Given the description of an element on the screen output the (x, y) to click on. 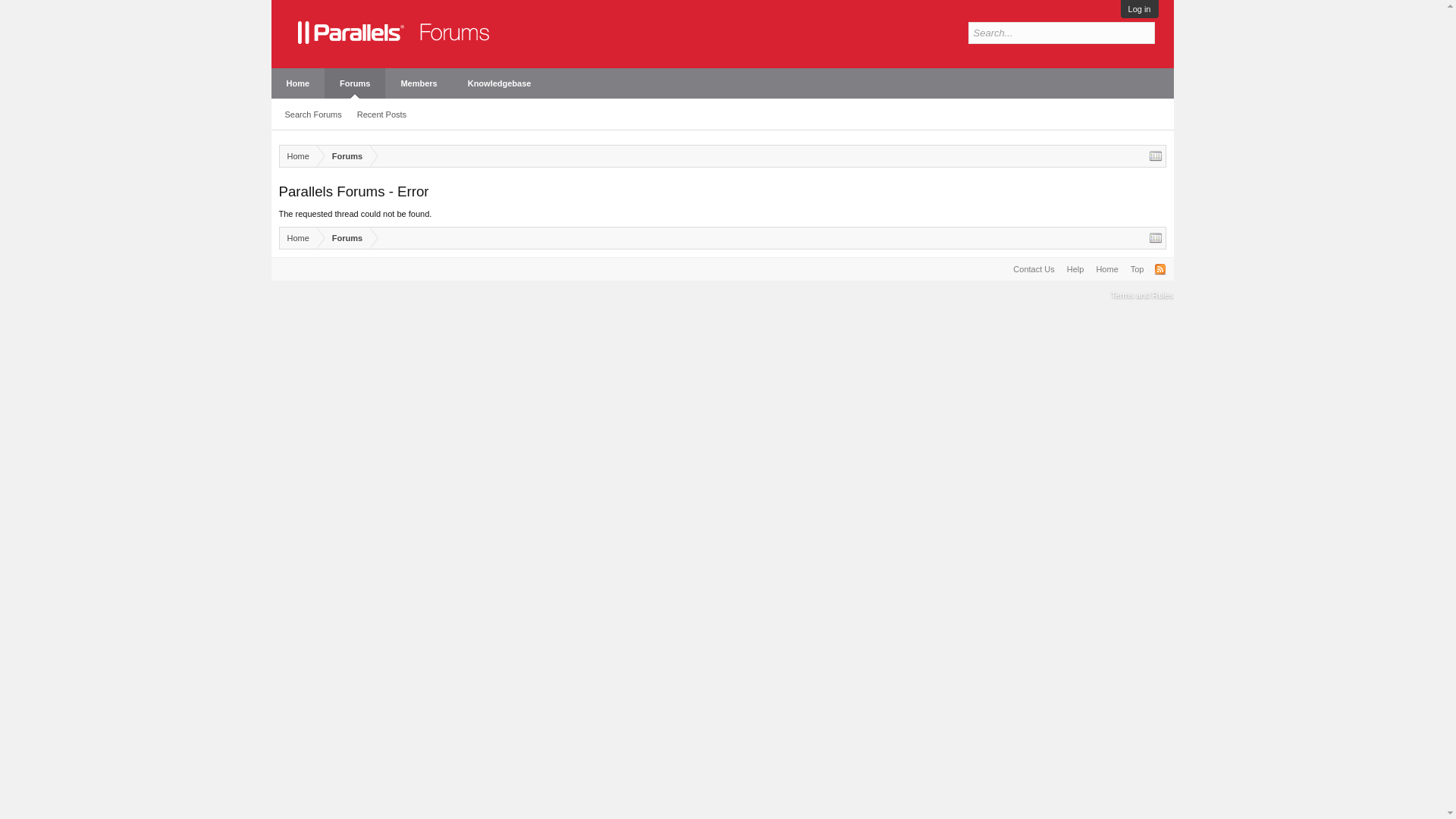
RSS (1160, 268)
Recent Posts (381, 114)
Forums (343, 238)
Knowledgebase (499, 82)
Members (418, 82)
Home (297, 156)
Home (1106, 268)
RSS feed for Parallels Forums (1160, 268)
Search Forums (313, 114)
Top (1137, 268)
Contact Us (1033, 268)
Open quick navigation (1155, 155)
Forums (354, 82)
Open quick navigation (1155, 237)
Forums (343, 156)
